Given the description of an element on the screen output the (x, y) to click on. 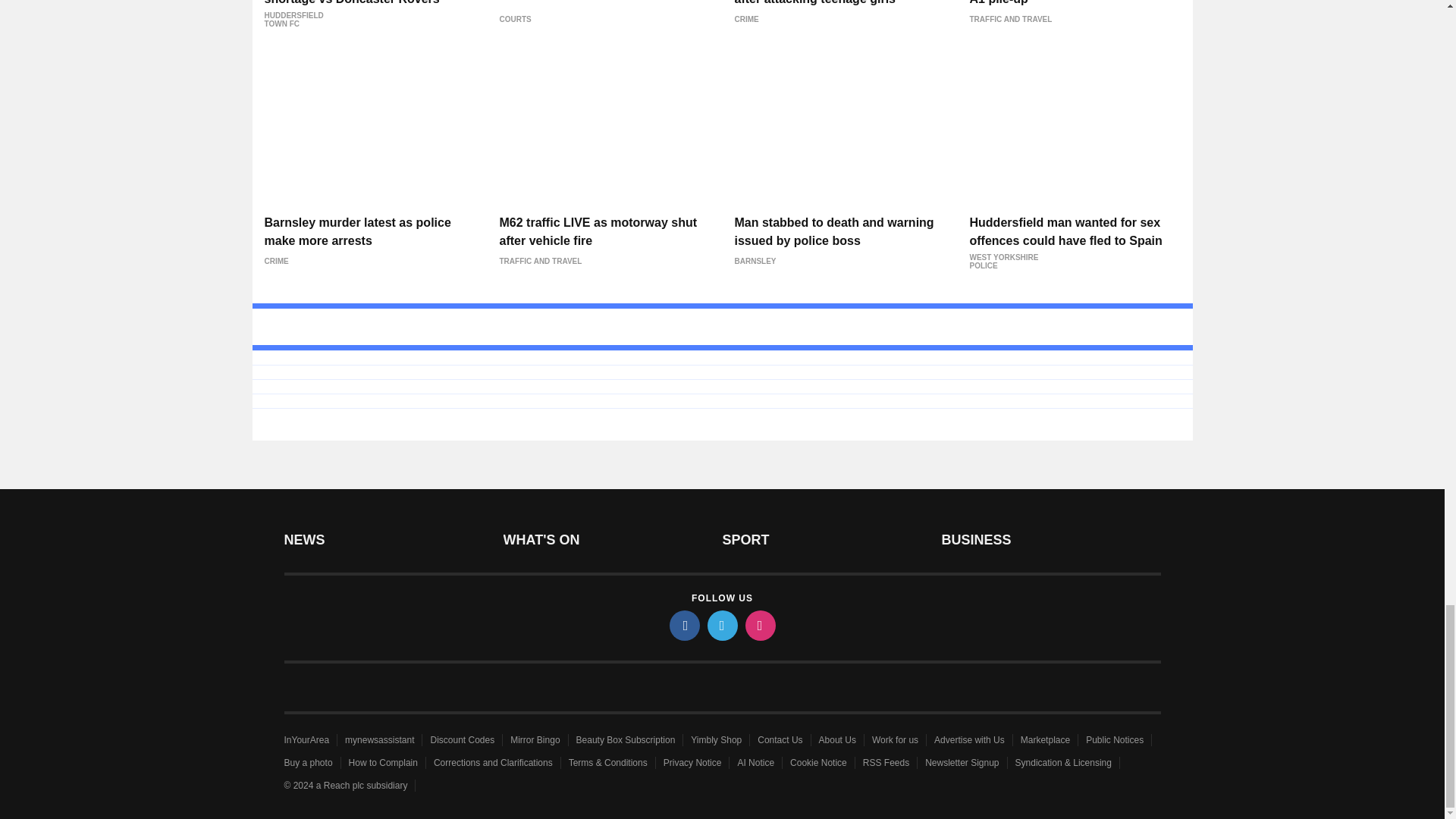
facebook (683, 625)
instagram (759, 625)
twitter (721, 625)
